Given the description of an element on the screen output the (x, y) to click on. 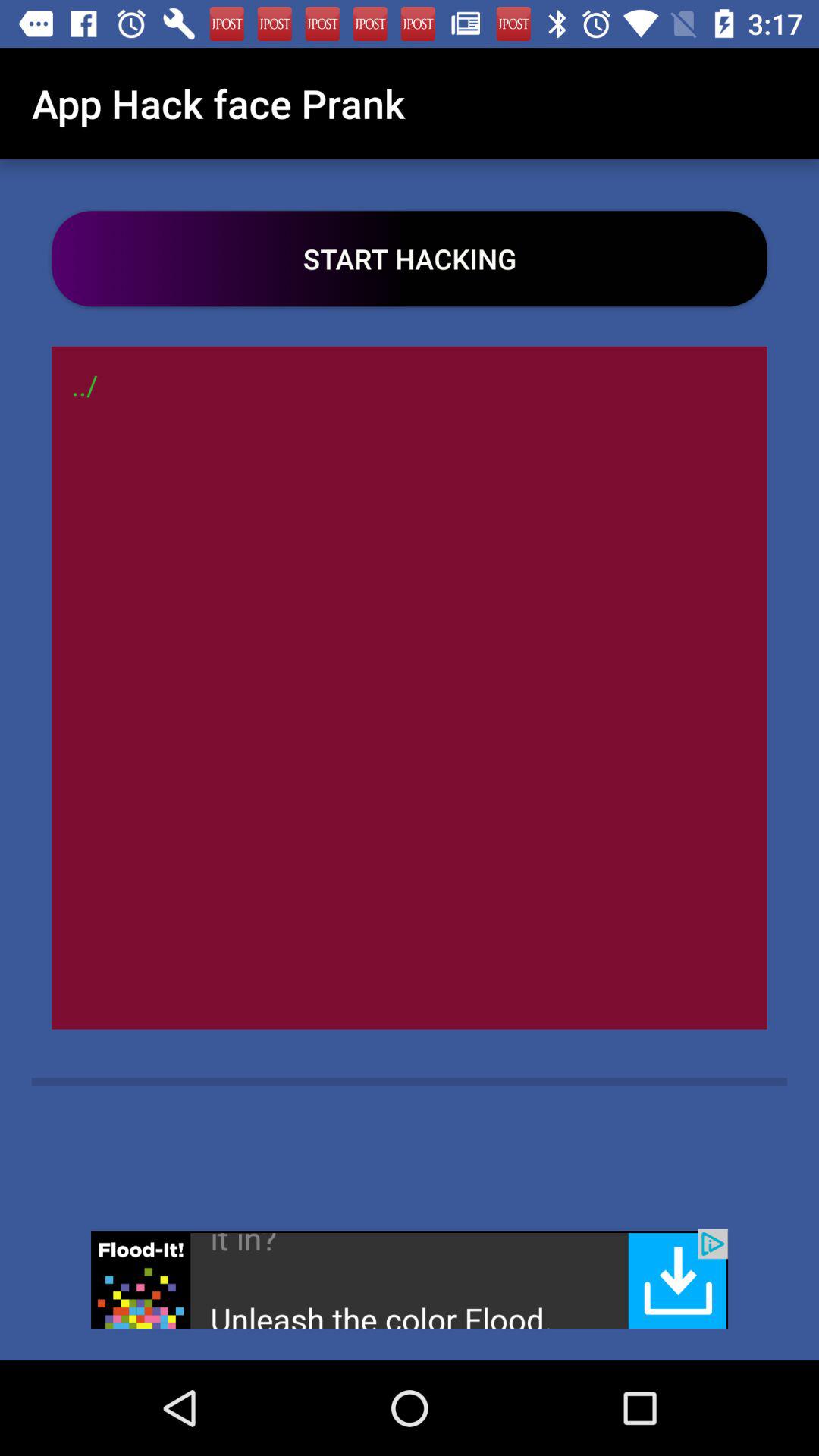
advertisement (409, 1278)
